Given the description of an element on the screen output the (x, y) to click on. 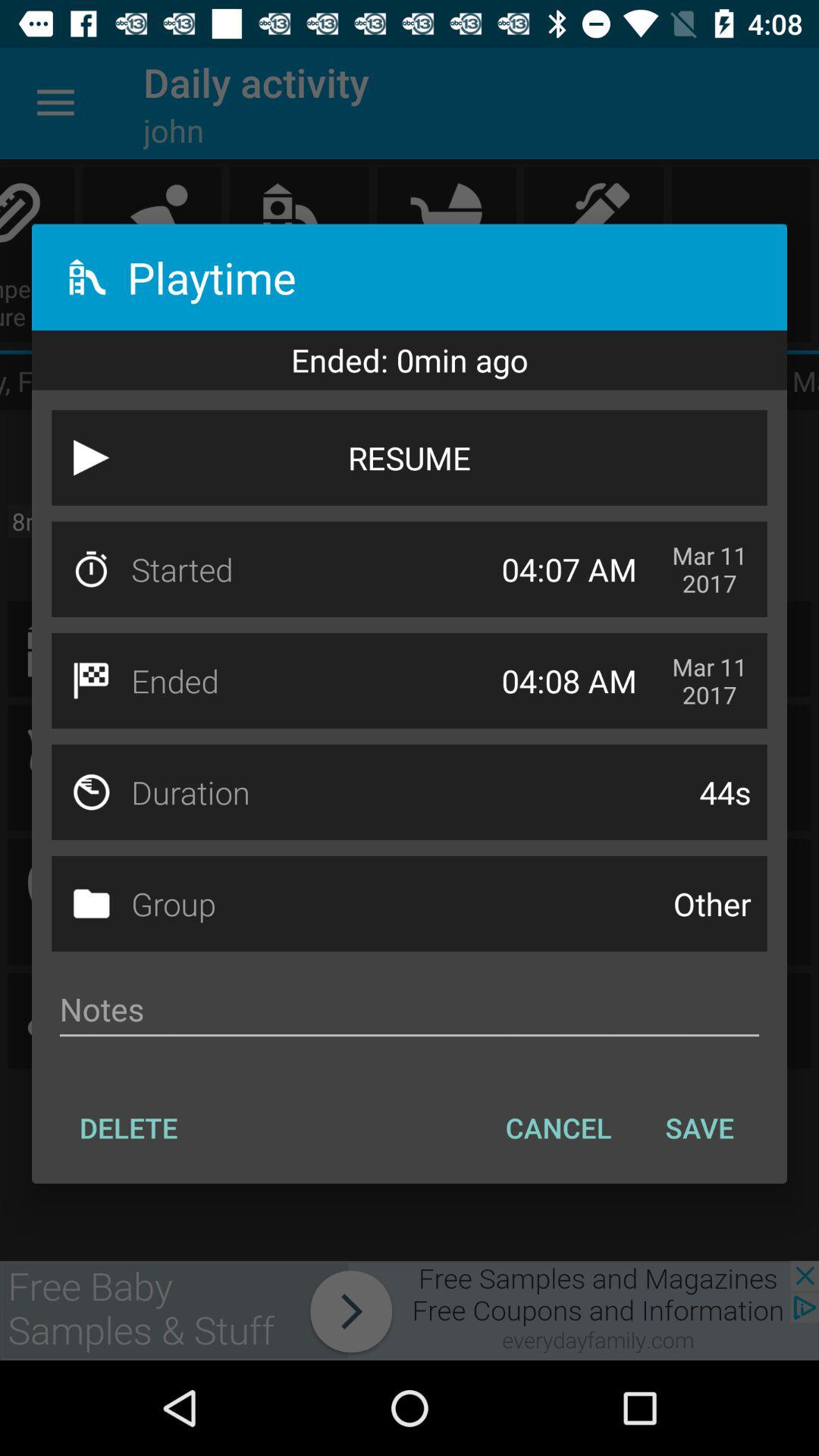
swipe to save icon (699, 1127)
